Given the description of an element on the screen output the (x, y) to click on. 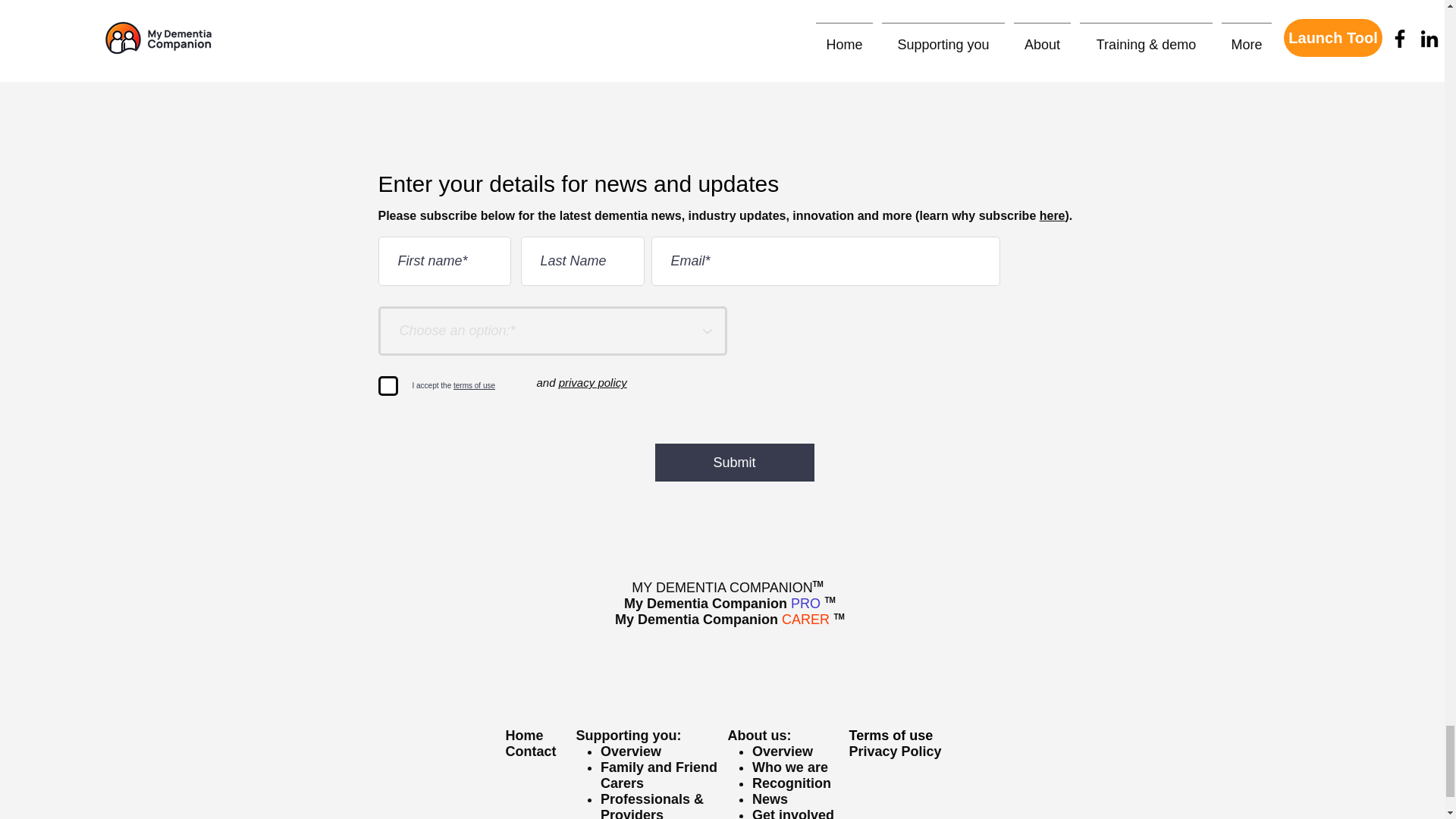
Home (524, 735)
privacy policy (593, 382)
terms of use (473, 385)
here (1052, 215)
Submit (734, 462)
